Given the description of an element on the screen output the (x, y) to click on. 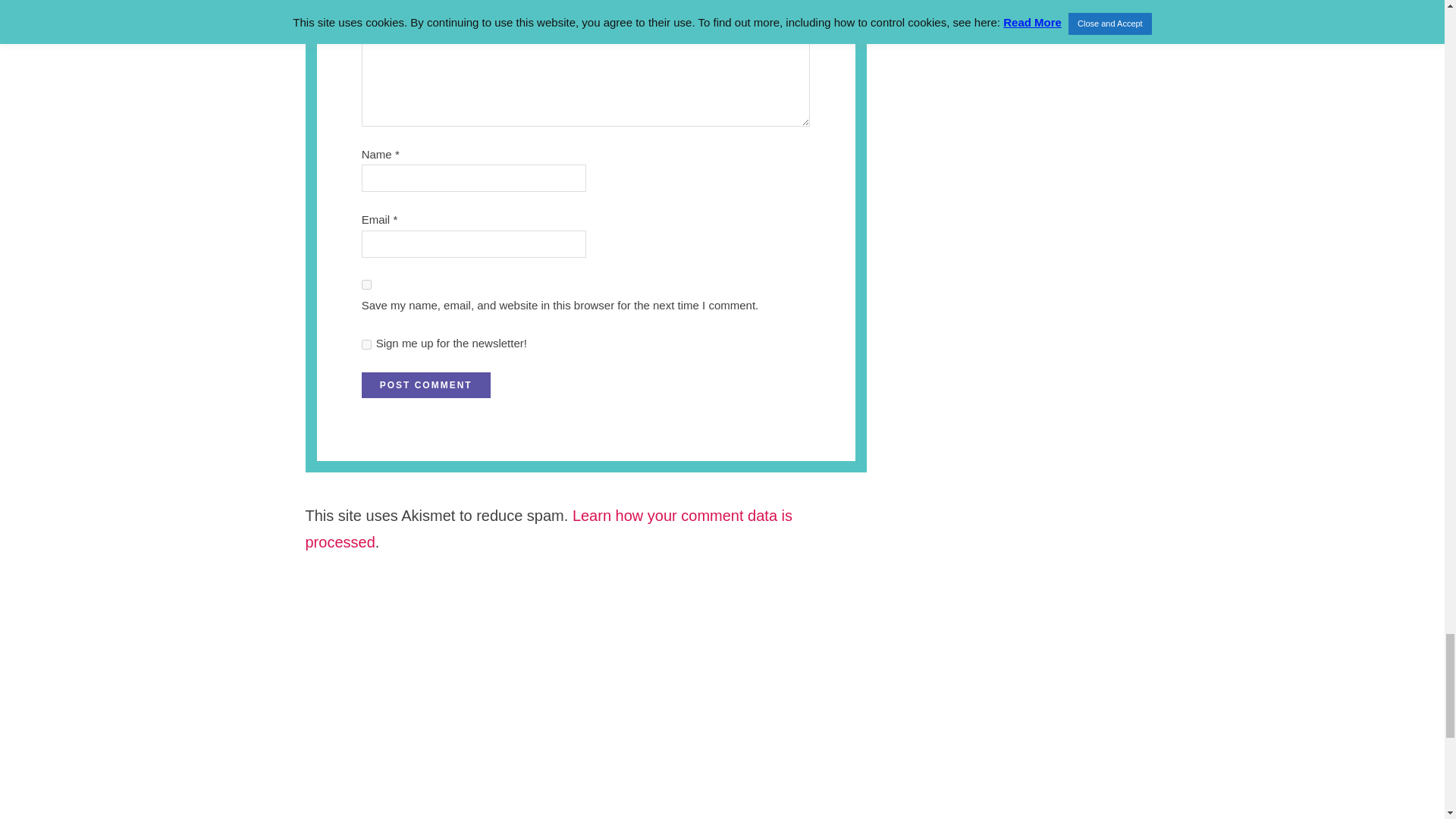
Post Comment (425, 385)
yes (366, 284)
1 (366, 344)
